Given the description of an element on the screen output the (x, y) to click on. 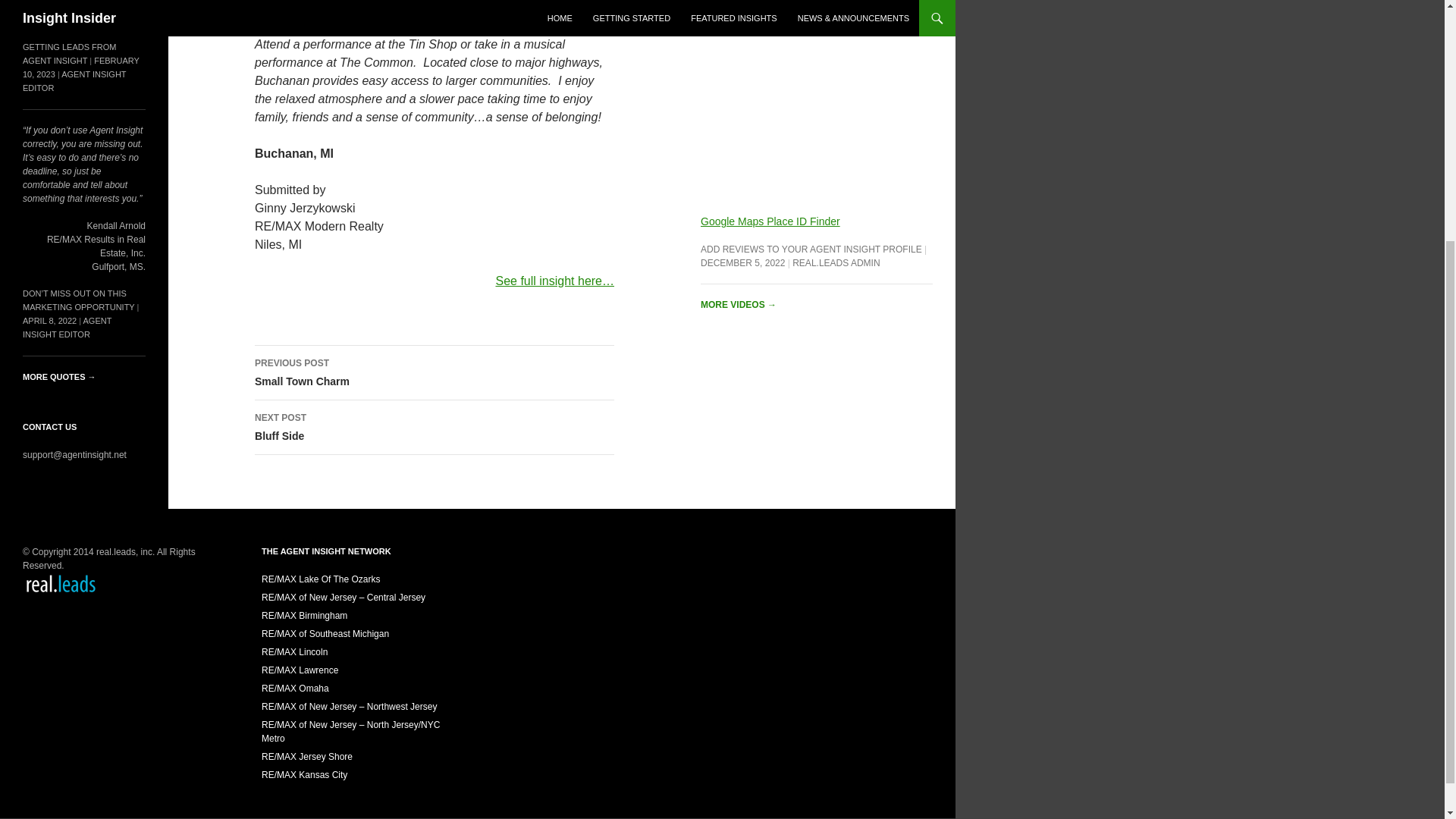
FEBRUARY 10, 2023 (81, 67)
AGENT INSIGHT EDITOR (74, 80)
APRIL 8, 2022 (50, 320)
DECEMBER 5, 2022 (434, 372)
GETTING LEADS FROM AGENT INSIGHT (434, 427)
AGENT INSIGHT EDITOR (742, 262)
REAL.LEADS ADMIN (69, 53)
Google Maps Place ID Finder (67, 327)
ADD REVIEWS TO YOUR AGENT INSIGHT PROFILE (835, 262)
